Given the description of an element on the screen output the (x, y) to click on. 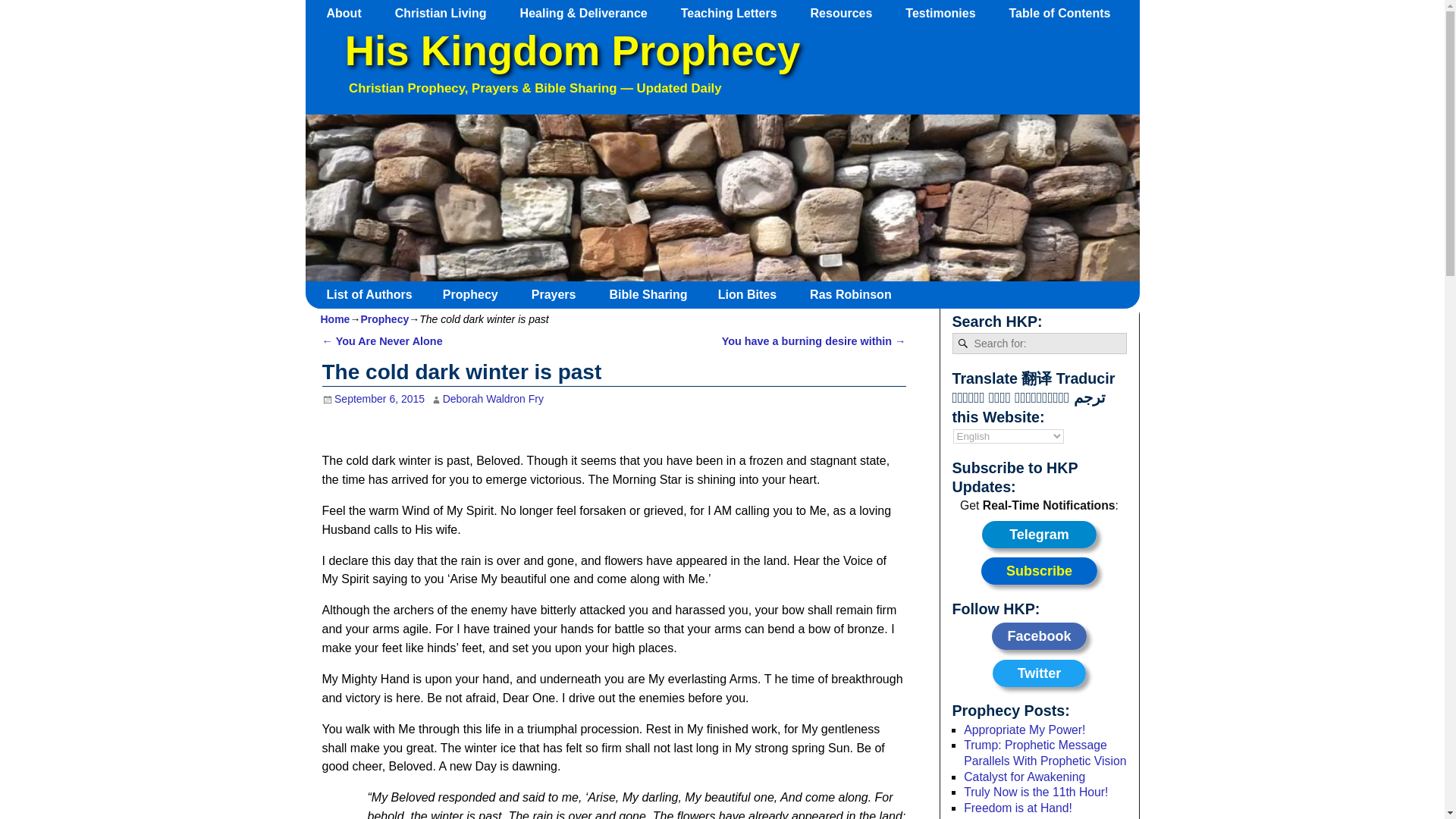
His Kingdom Prophecy (571, 50)
Teaching Letters (736, 13)
View all posts by Deborah Waldron Fry (492, 398)
Christian Living (448, 13)
Table of Contents (1066, 13)
Resources (849, 13)
His Kingdom Prophecy (571, 50)
Testimonies (947, 13)
List of Authors (374, 294)
About (351, 13)
8:19 pm (373, 398)
